Given the description of an element on the screen output the (x, y) to click on. 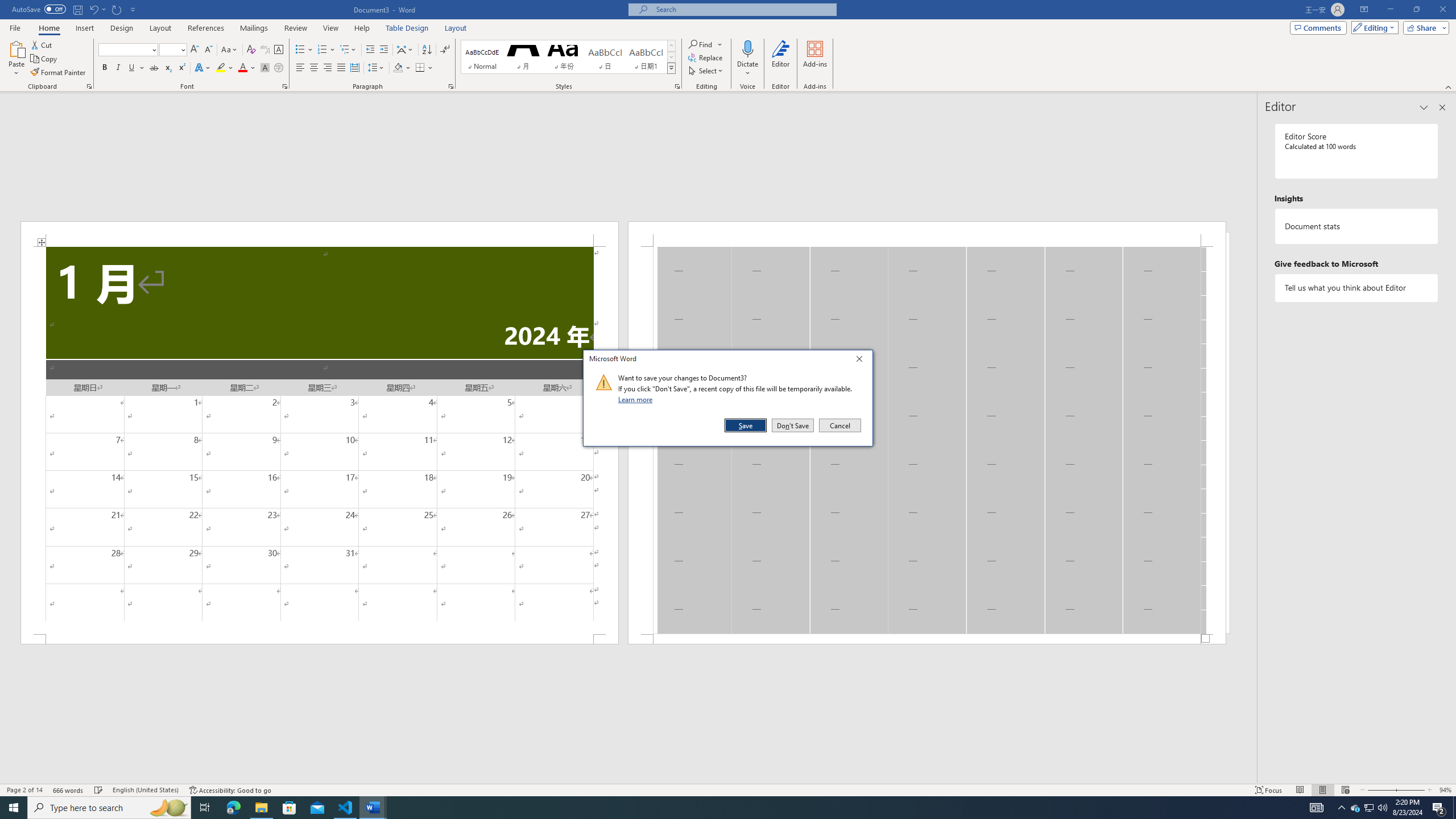
Word Count 666 words (68, 790)
Text Highlight Color (224, 67)
User Promoted Notification Area (1368, 807)
Microsoft search (742, 9)
Center (313, 67)
Show desktop (1454, 807)
Justify (340, 67)
Change Case (229, 49)
Search highlights icon opens search home window (167, 807)
